Given the description of an element on the screen output the (x, y) to click on. 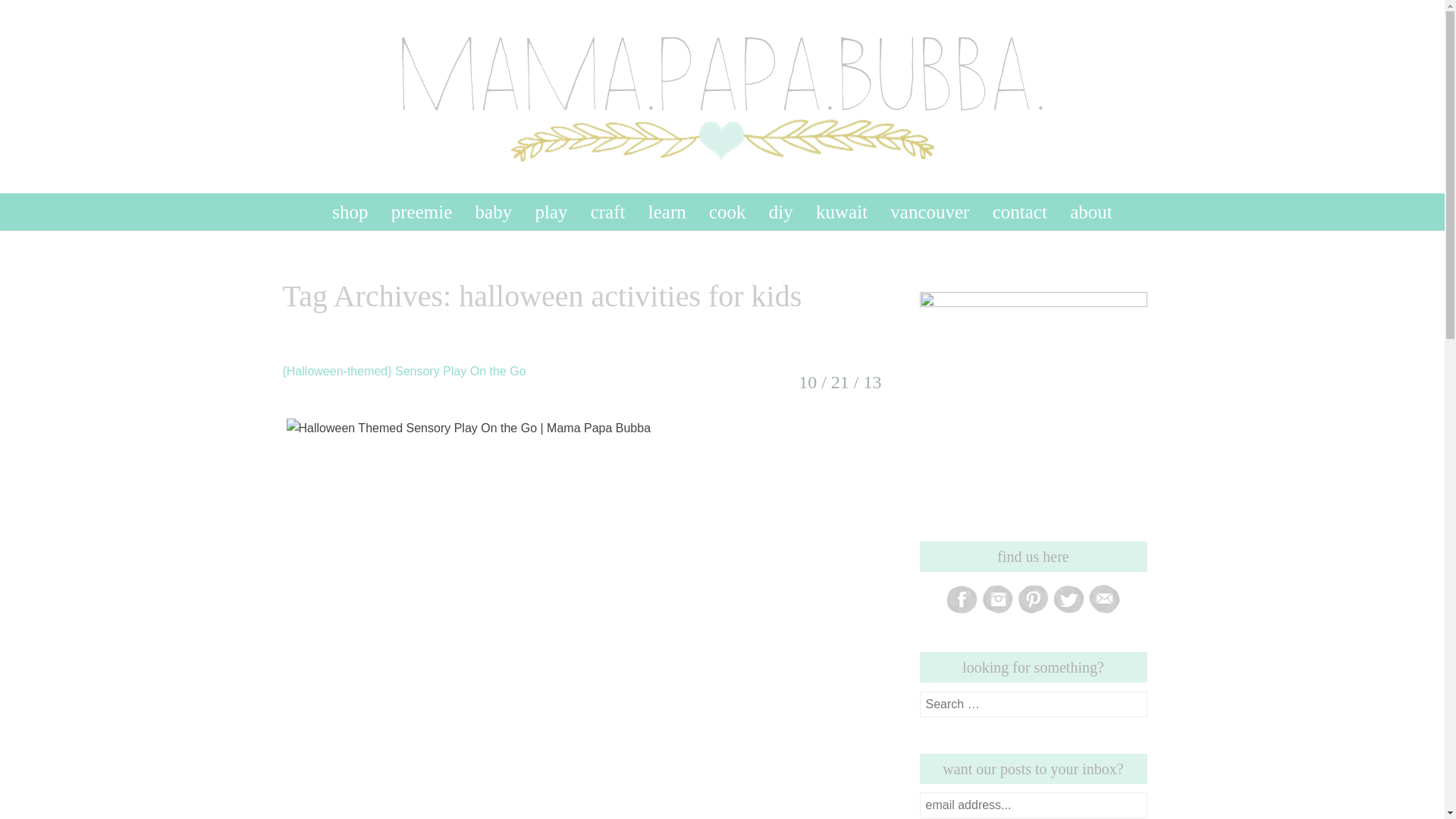
kuwait (841, 211)
shop (350, 211)
Search (25, 14)
baby (493, 211)
play (550, 211)
skip to content (275, 201)
learn (667, 211)
about (1091, 211)
diy (781, 211)
vancouver (929, 211)
